Given the description of an element on the screen output the (x, y) to click on. 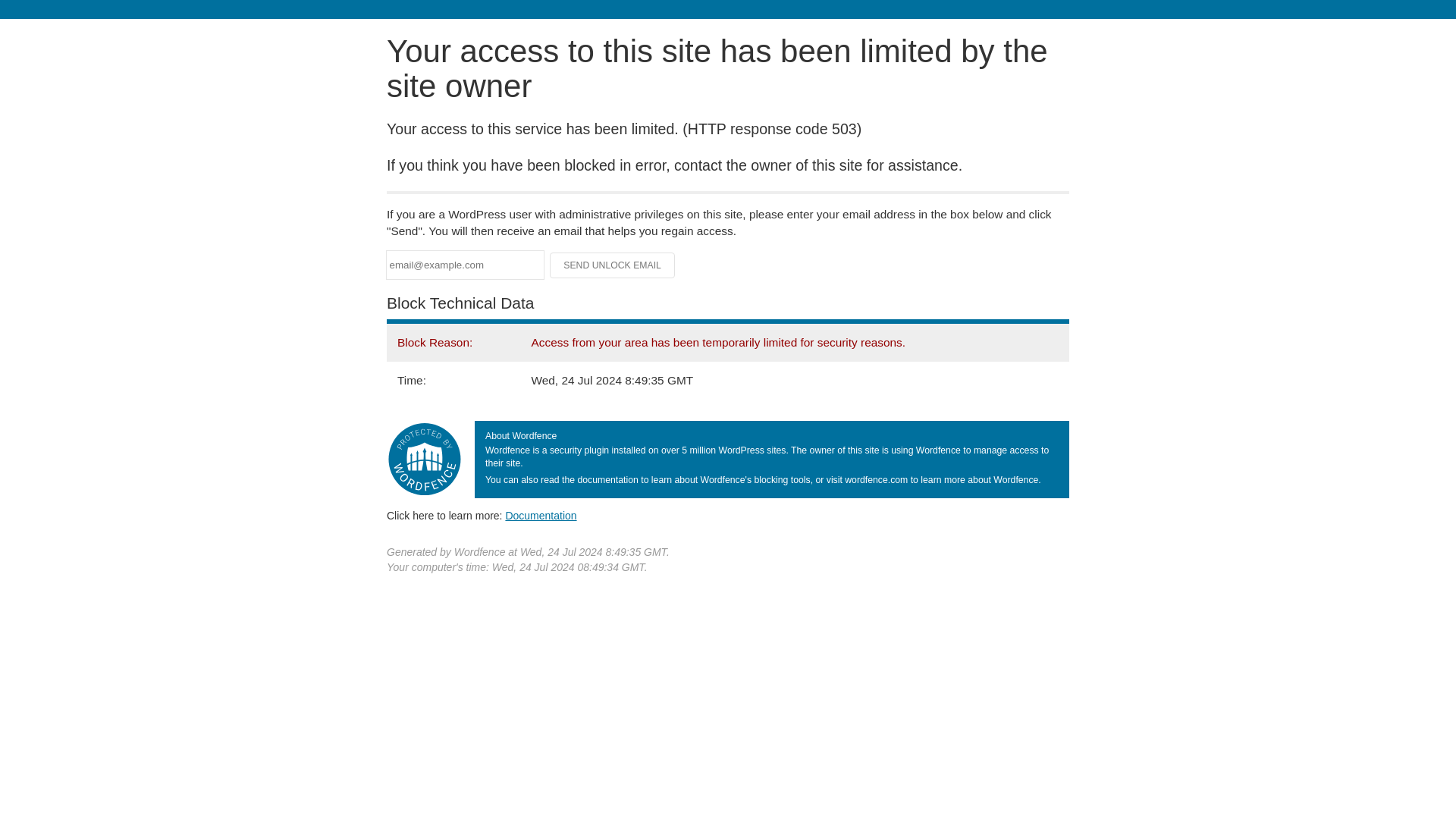
Send Unlock Email (612, 265)
Send Unlock Email (612, 265)
Documentation (540, 515)
